Given the description of an element on the screen output the (x, y) to click on. 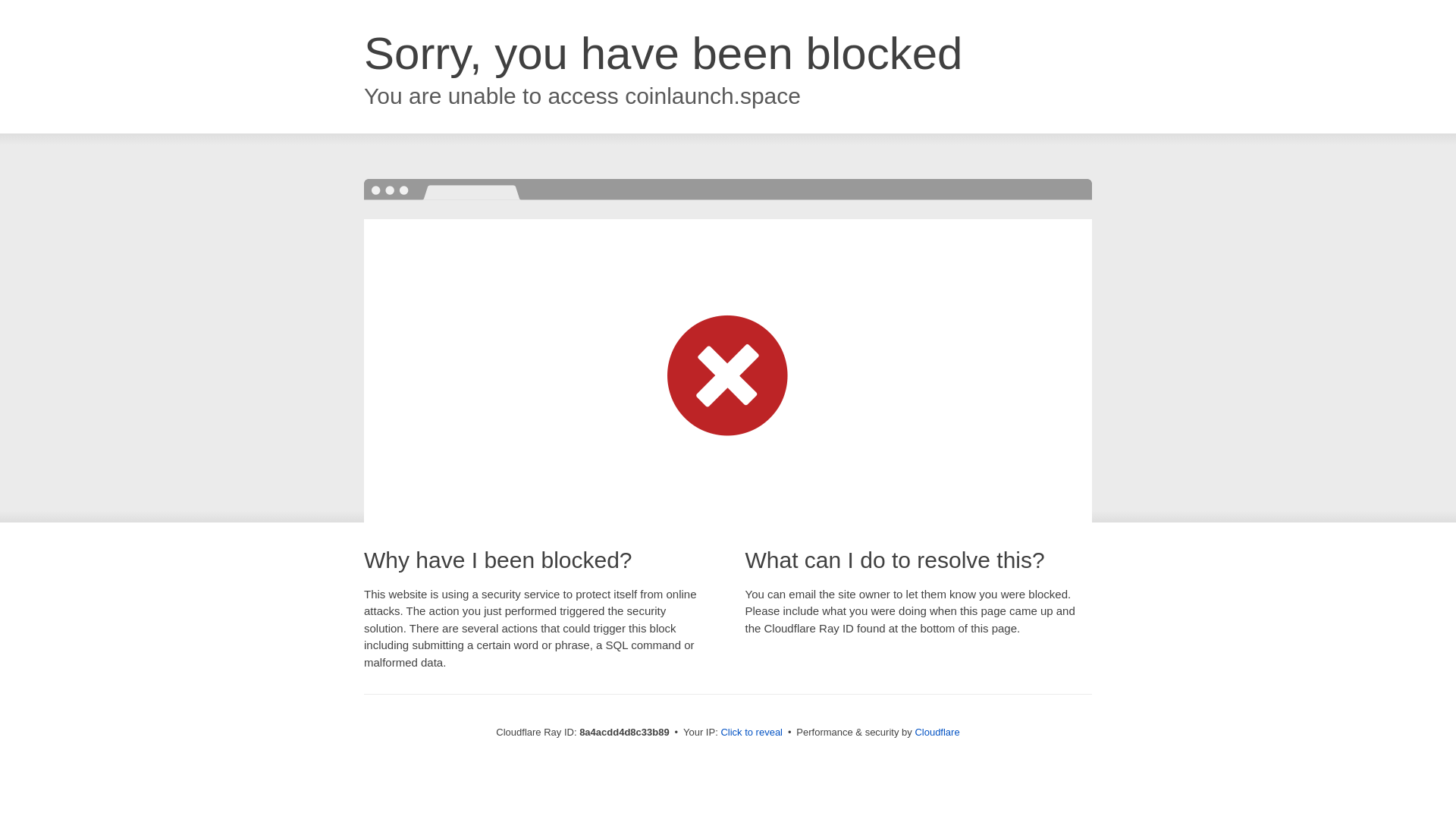
Cloudflare (936, 731)
Click to reveal (751, 732)
